Given the description of an element on the screen output the (x, y) to click on. 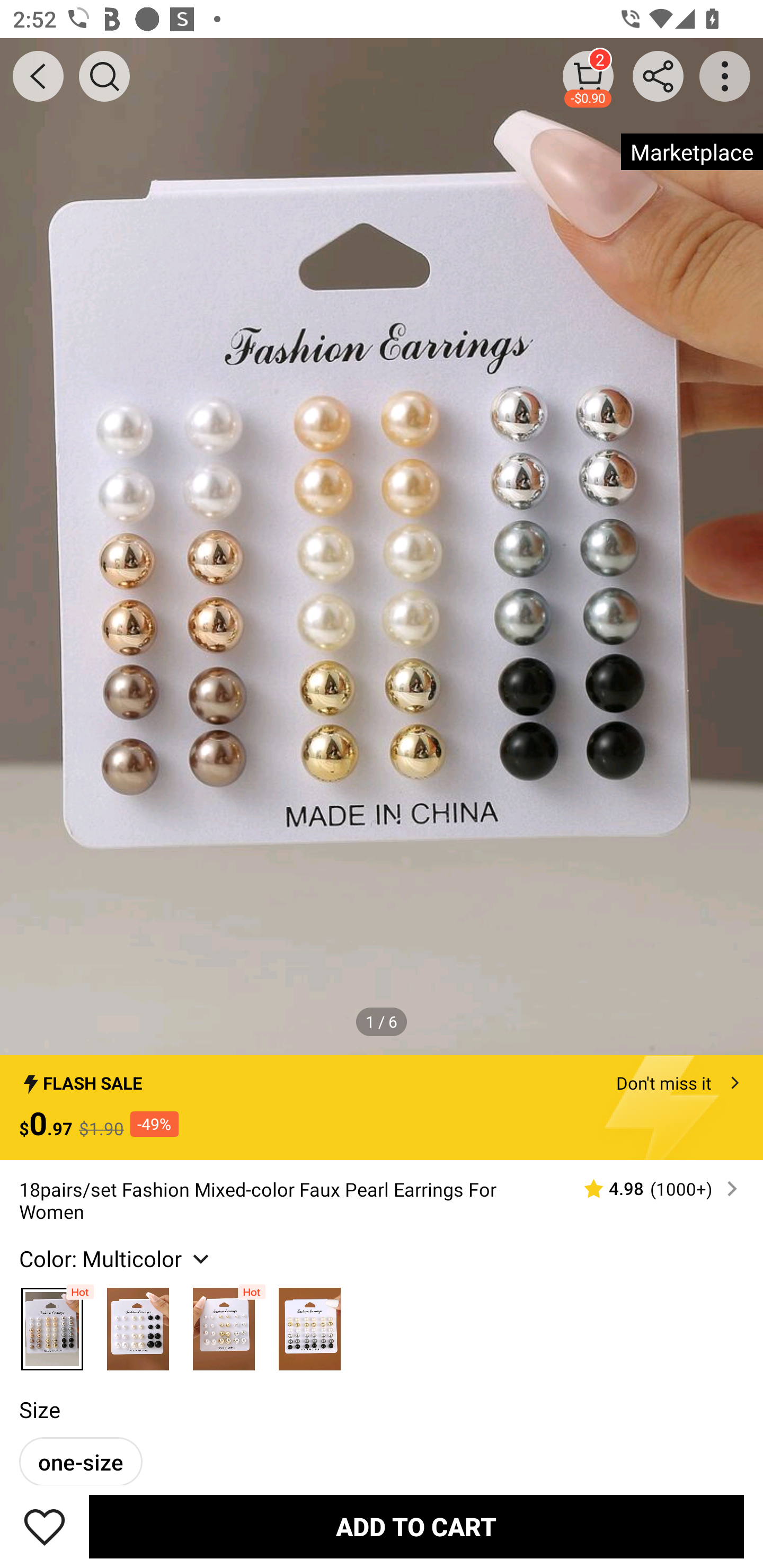
BACK (38, 75)
2 -$0.90 (588, 75)
1 / 6 (381, 1021)
FLASH SALE Don't miss it $0.97 $1.90 -49% (381, 1107)
FLASH SALE Don't miss it (381, 1077)
4.98 (1000‎+) (653, 1188)
Color: Multicolor (116, 1258)
Multicolor (52, 1324)
Multicolor (138, 1324)
Multicolor (224, 1324)
Multicolor (309, 1324)
Size (39, 1408)
one-size one-sizeunselected option (80, 1460)
ADD TO CART (416, 1526)
Save (44, 1526)
